Given the description of an element on the screen output the (x, y) to click on. 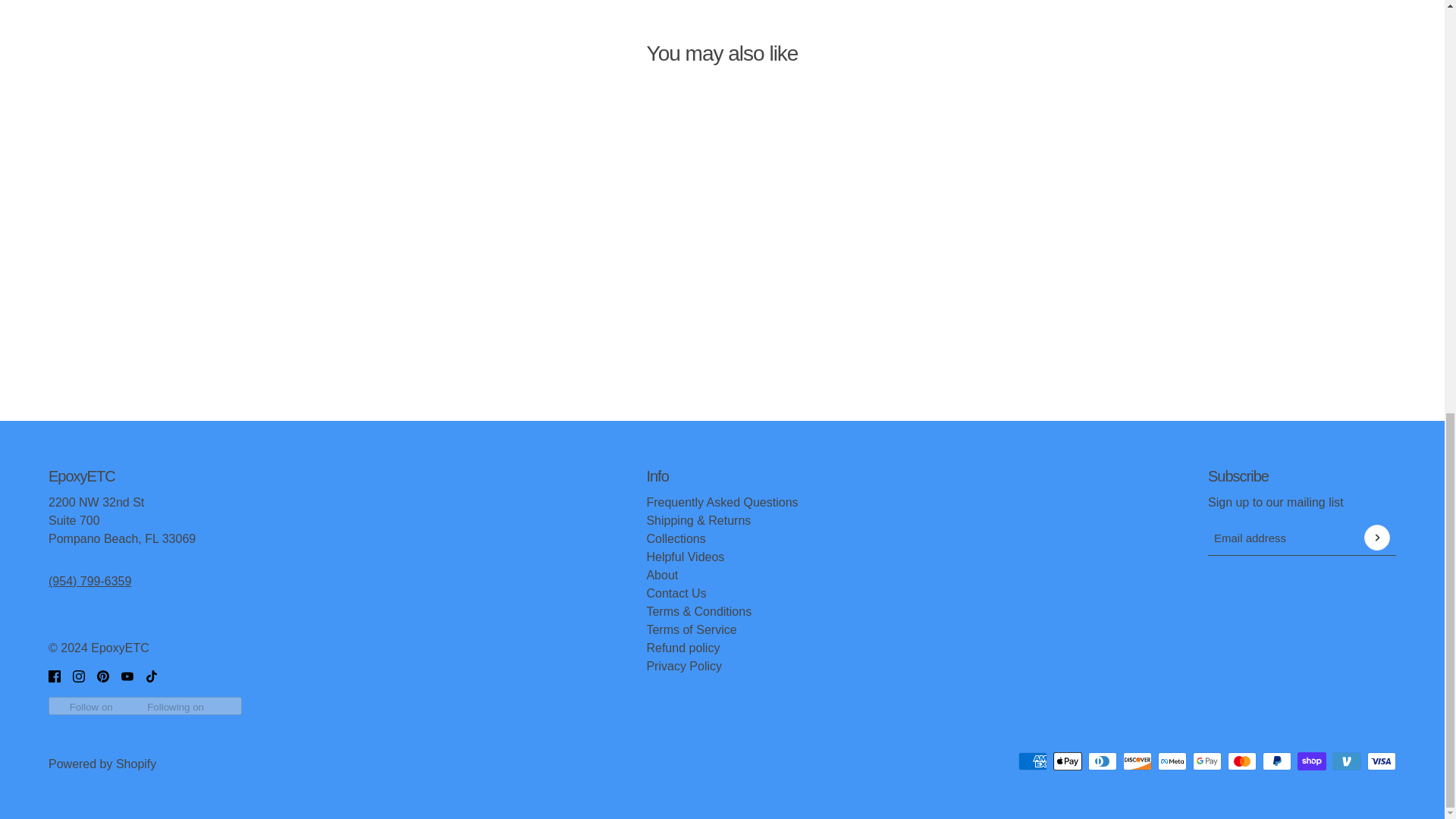
Privacy Policy (684, 666)
Helpful Videos (684, 556)
Terms of Service (691, 629)
Frequently Asked Questions (721, 502)
Refund policy (682, 647)
tel:9548335945 (89, 581)
Collections (675, 538)
About  (662, 574)
Contact Us (676, 593)
